Given the description of an element on the screen output the (x, y) to click on. 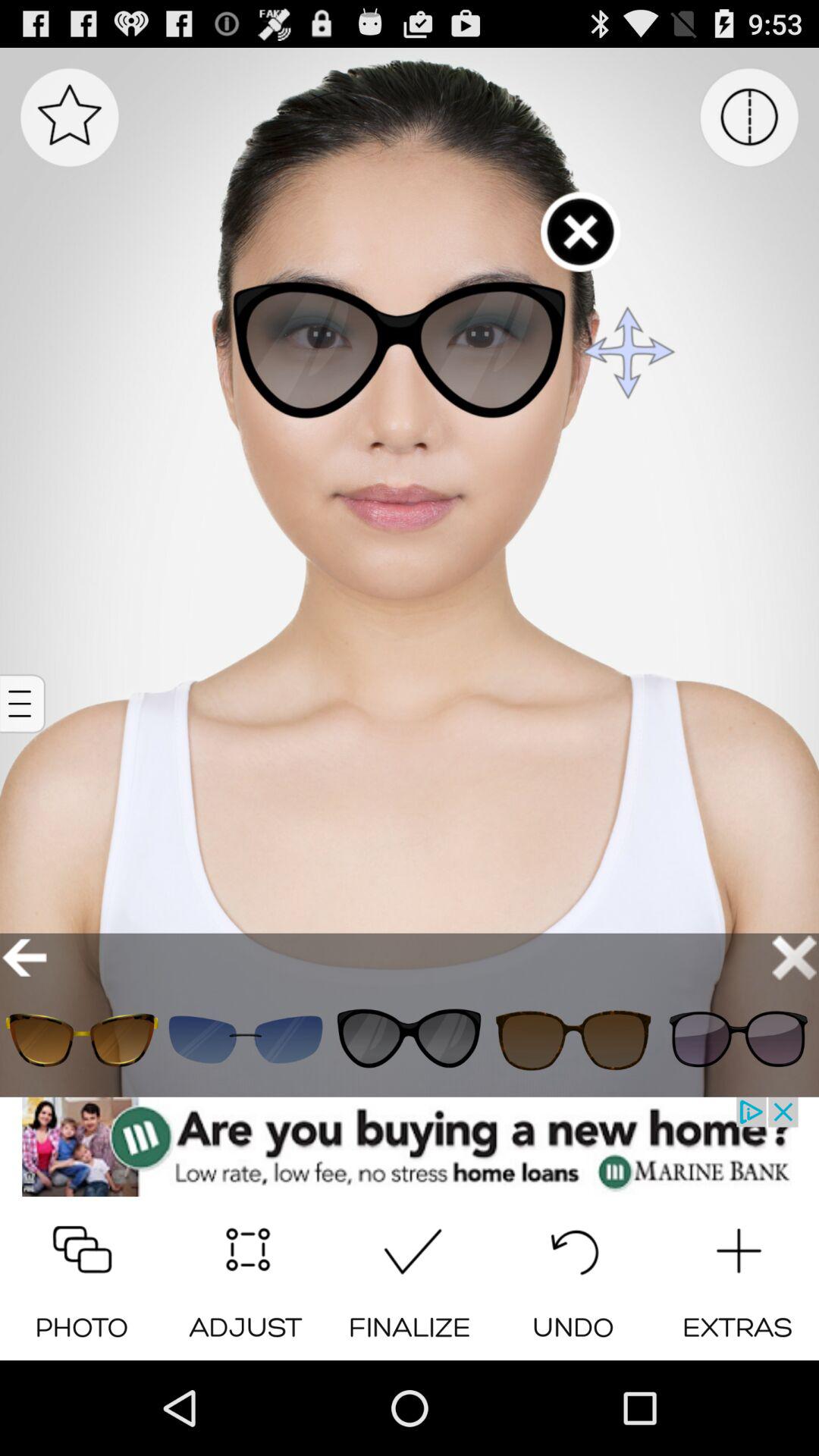
go to back page (24, 957)
